Given the description of an element on the screen output the (x, y) to click on. 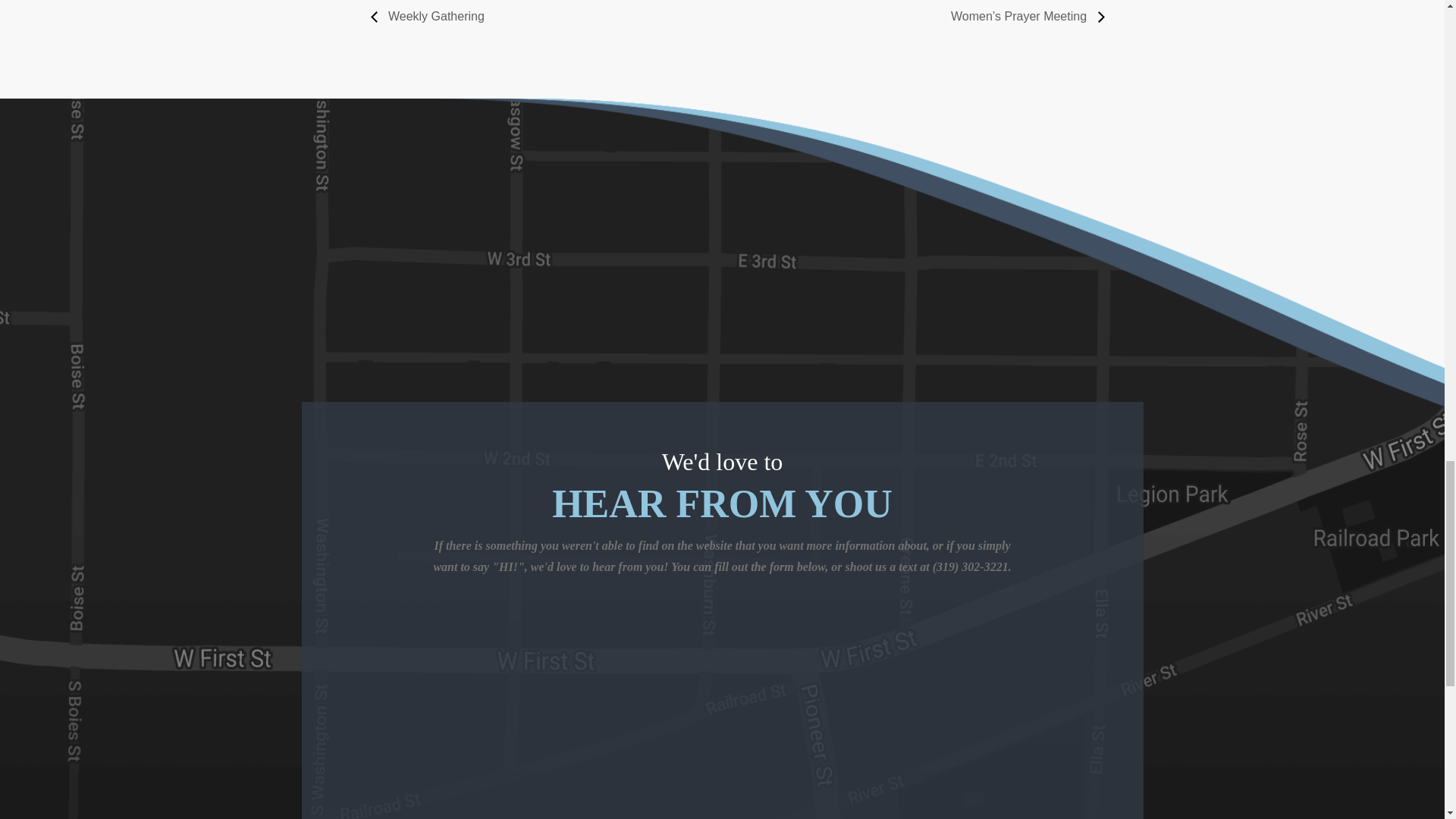
Weekly Gathering (430, 15)
Submit (1040, 735)
